Given the description of an element on the screen output the (x, y) to click on. 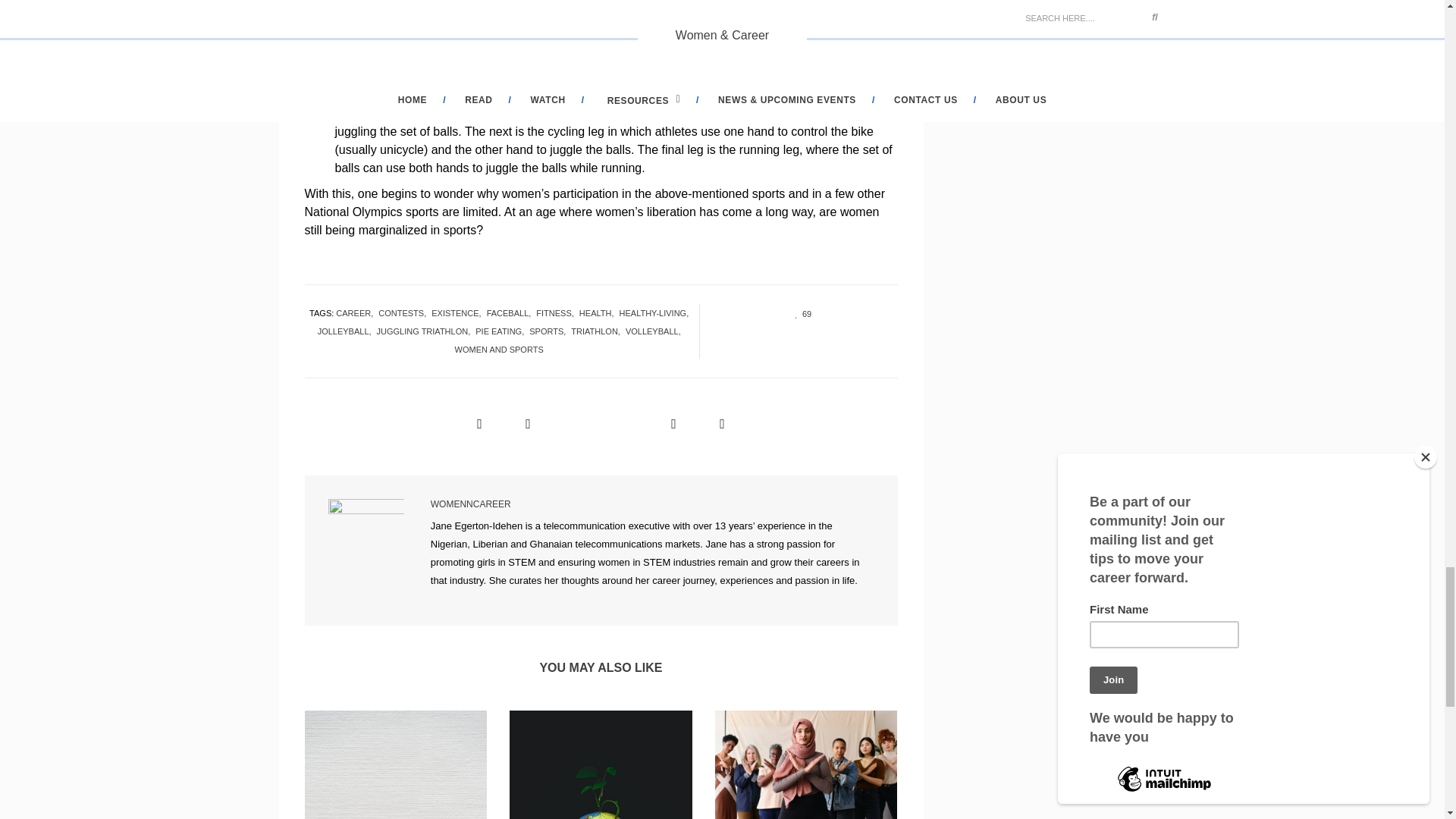
FITNESS (557, 312)
HEALTH (599, 312)
WOMEN AND SPORTS (501, 349)
69 (798, 312)
CAREER (357, 312)
SPORTS (549, 331)
JUGGLING TRIATHLON (426, 331)
EXISTENCE (458, 312)
PIE EATING (502, 331)
FACEBALL (511, 312)
TRIATHLON (598, 331)
CONTESTS (404, 312)
VOLLEYBALL (655, 331)
HEALTHY-LIVING (657, 312)
Juggling Triathlon (381, 40)
